Given the description of an element on the screen output the (x, y) to click on. 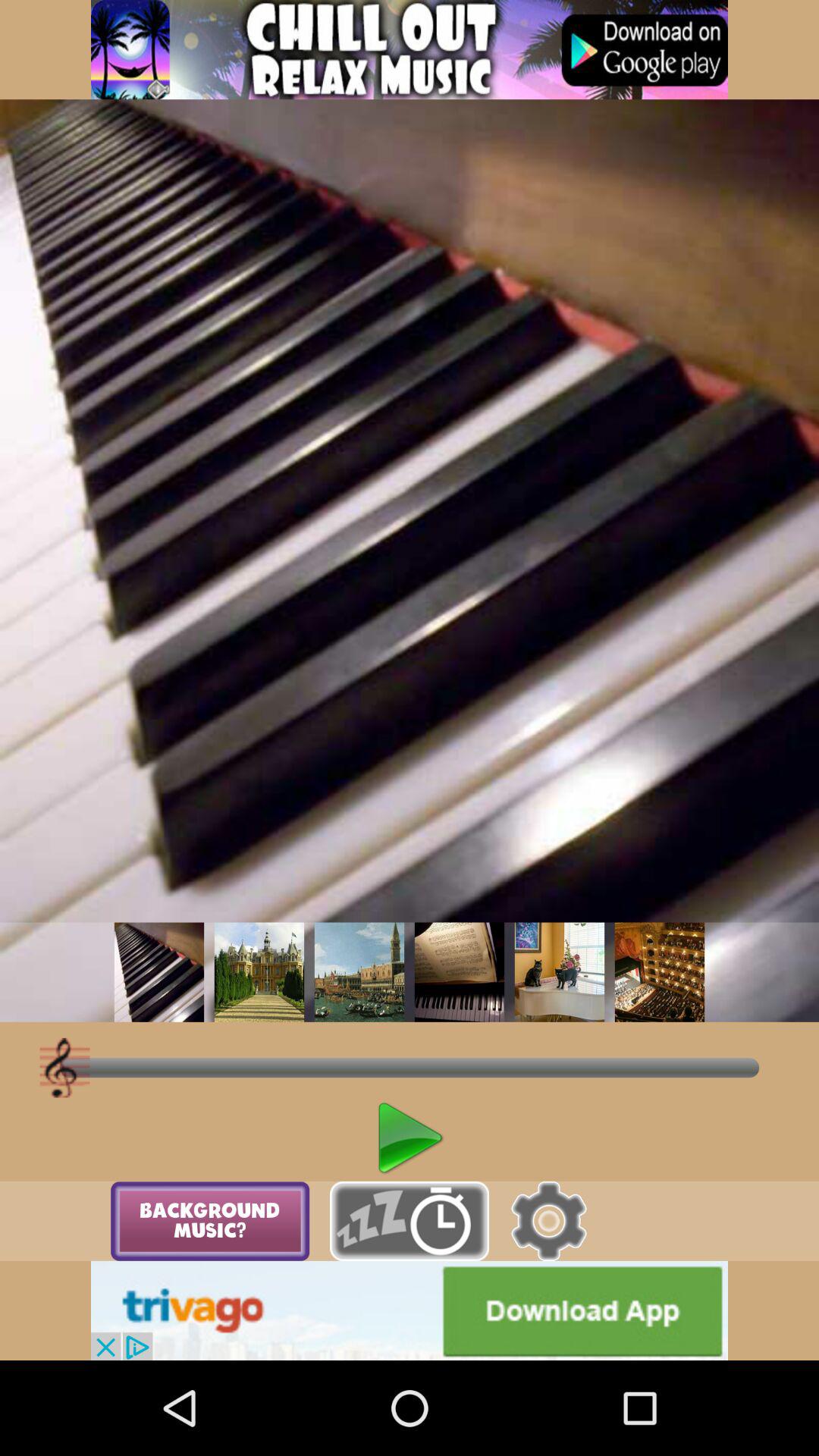
show image (259, 972)
